Given the description of an element on the screen output the (x, y) to click on. 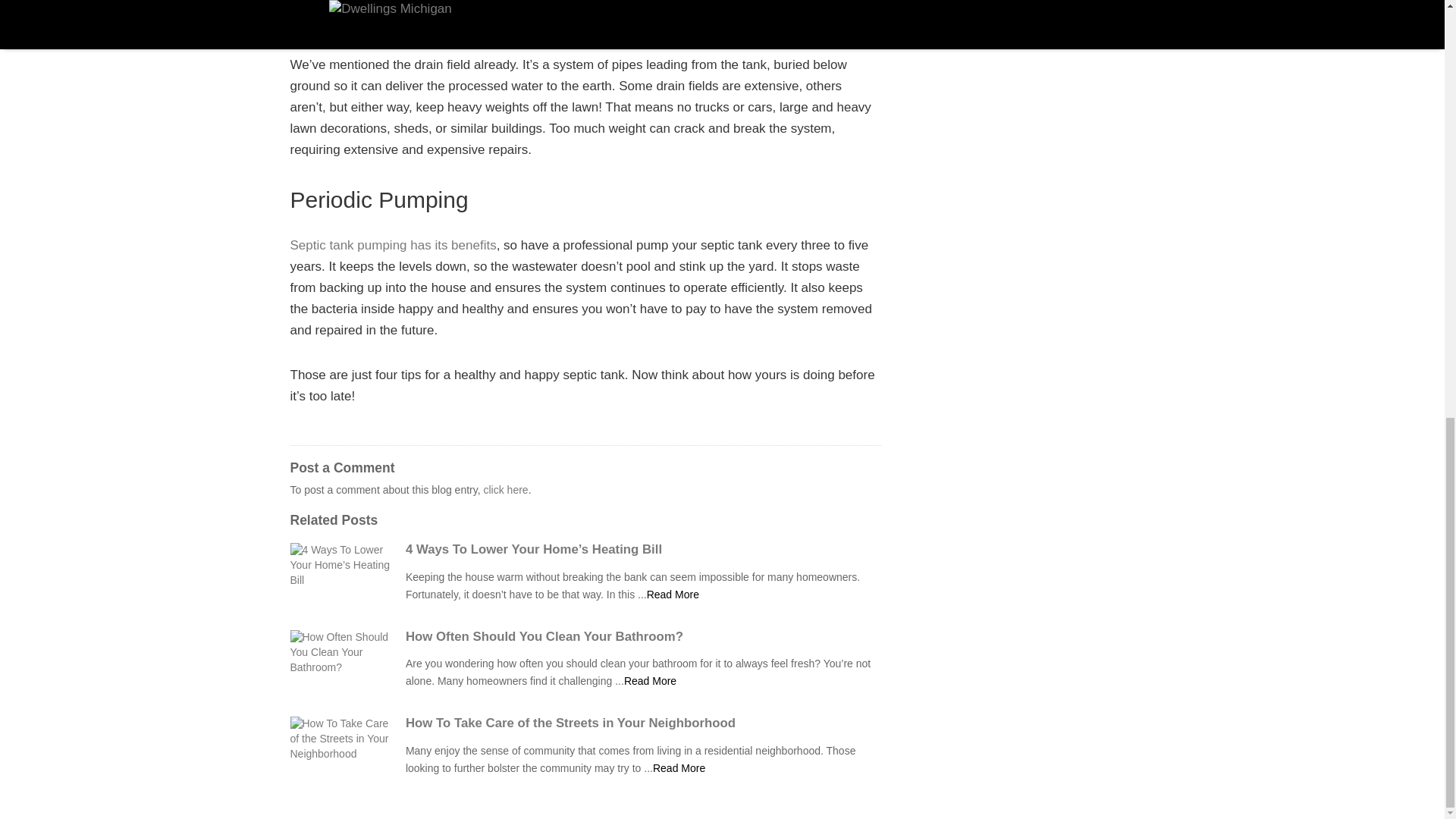
4 Tips for a Healthy and Happy Septic Tank (678, 767)
4 Tips for a Healthy and Happy Septic Tank (650, 680)
How Often Should You Clean Your Bathroom? (643, 636)
How To Take Care of the Streets in Your Neighborhood (643, 723)
4 Tips for a Healthy and Happy Septic Tank (672, 594)
